Given the description of an element on the screen output the (x, y) to click on. 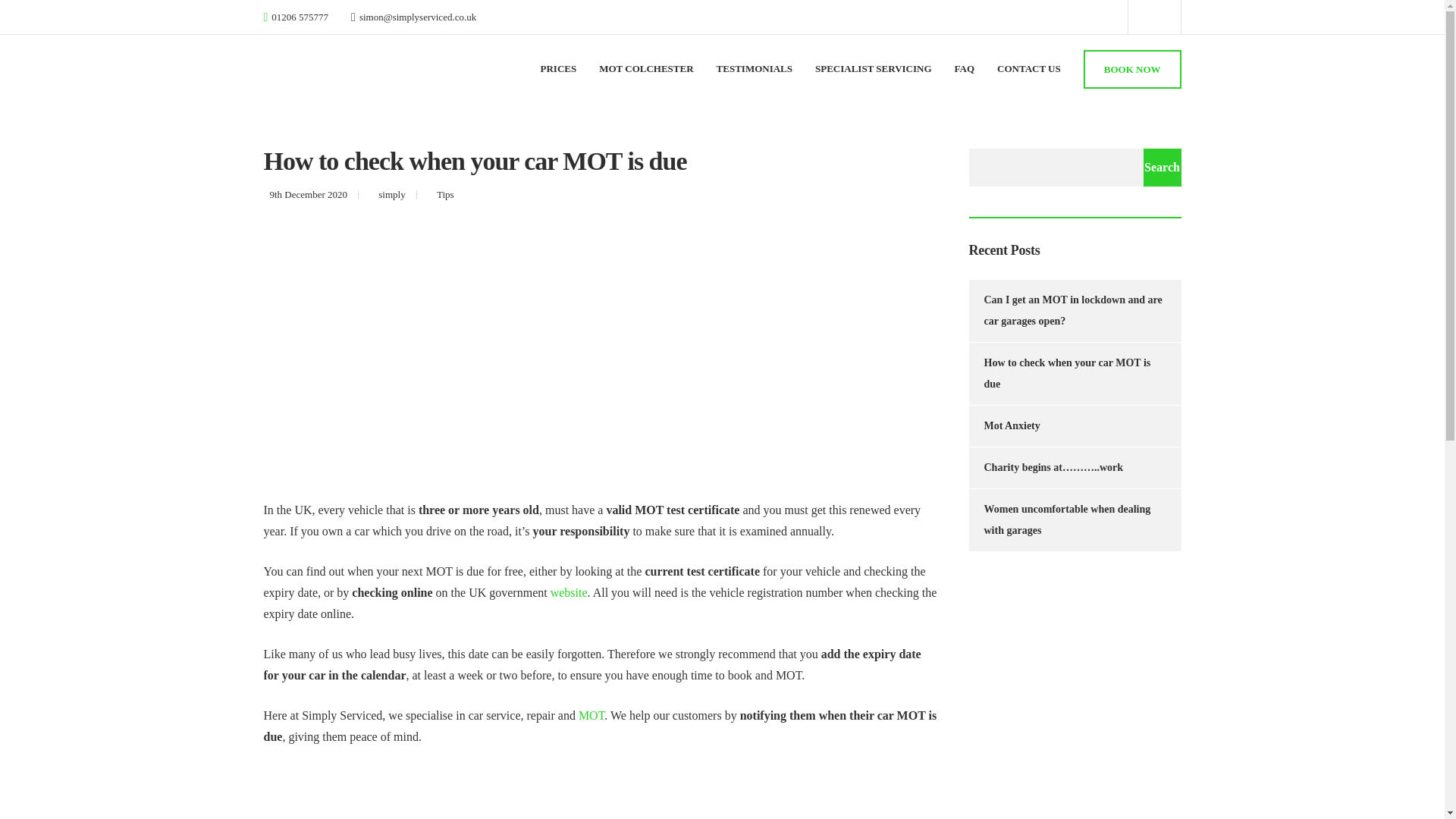
Testimonials (754, 67)
Specialist Servicing (873, 67)
MOT COLCHESTER (645, 67)
01206 575777 (299, 16)
TESTIMONIALS (754, 67)
Search (1161, 167)
CONTACT US (1029, 67)
MOT Colchester (645, 67)
SPECIALIST SERVICING (873, 67)
BOOK NOW (1131, 68)
